Given the description of an element on the screen output the (x, y) to click on. 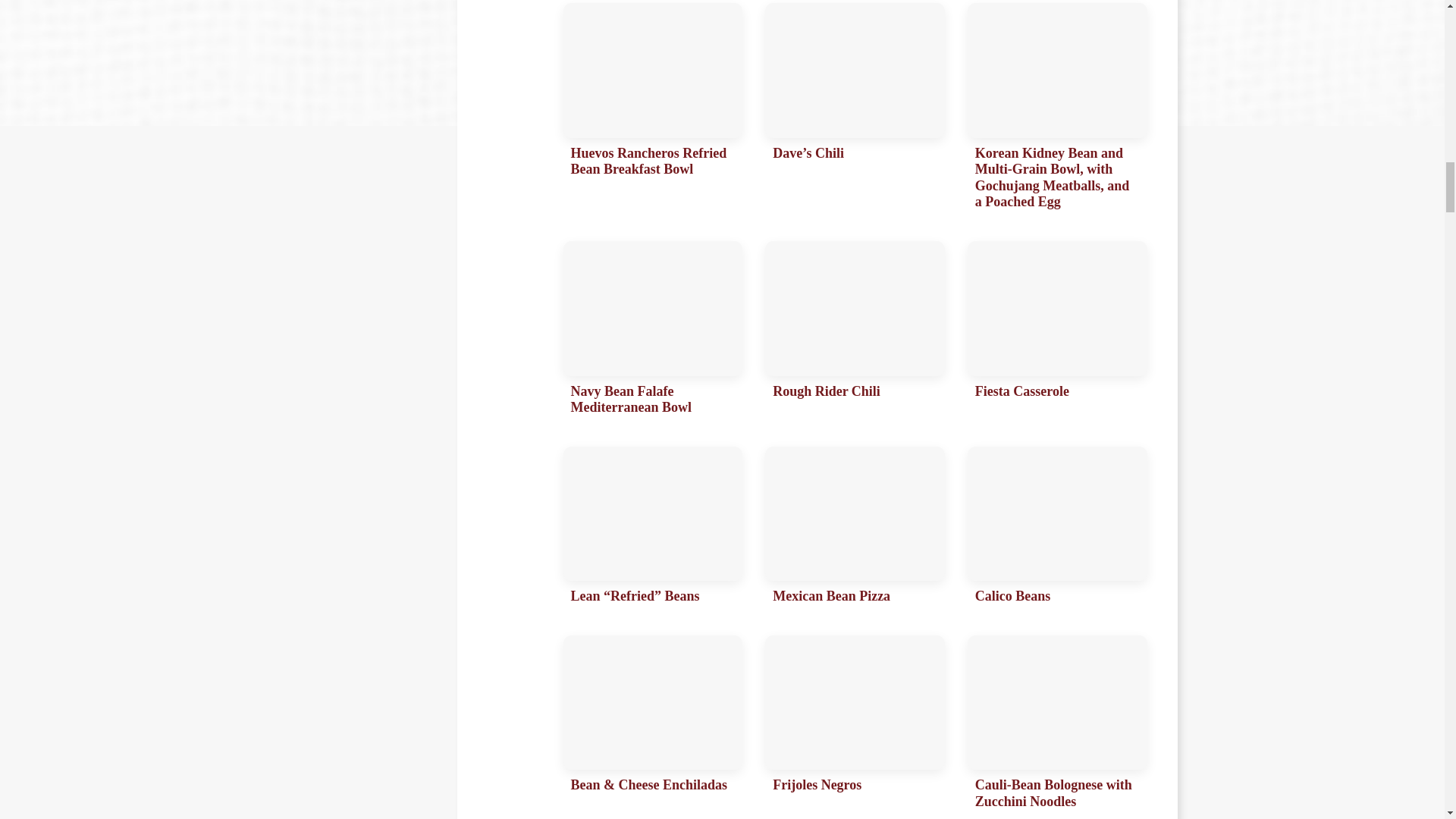
Calico Beans (1057, 529)
Rough Rider Chili (854, 332)
Fiesta Casserole (1057, 332)
Frijoles Negros (854, 726)
Mexican Bean Pizza (854, 529)
Navy Bean Falafe Mediterranean Bowl (652, 332)
Cauli-Bean Bolognese with Zucchini Noodles (1057, 726)
